Given the description of an element on the screen output the (x, y) to click on. 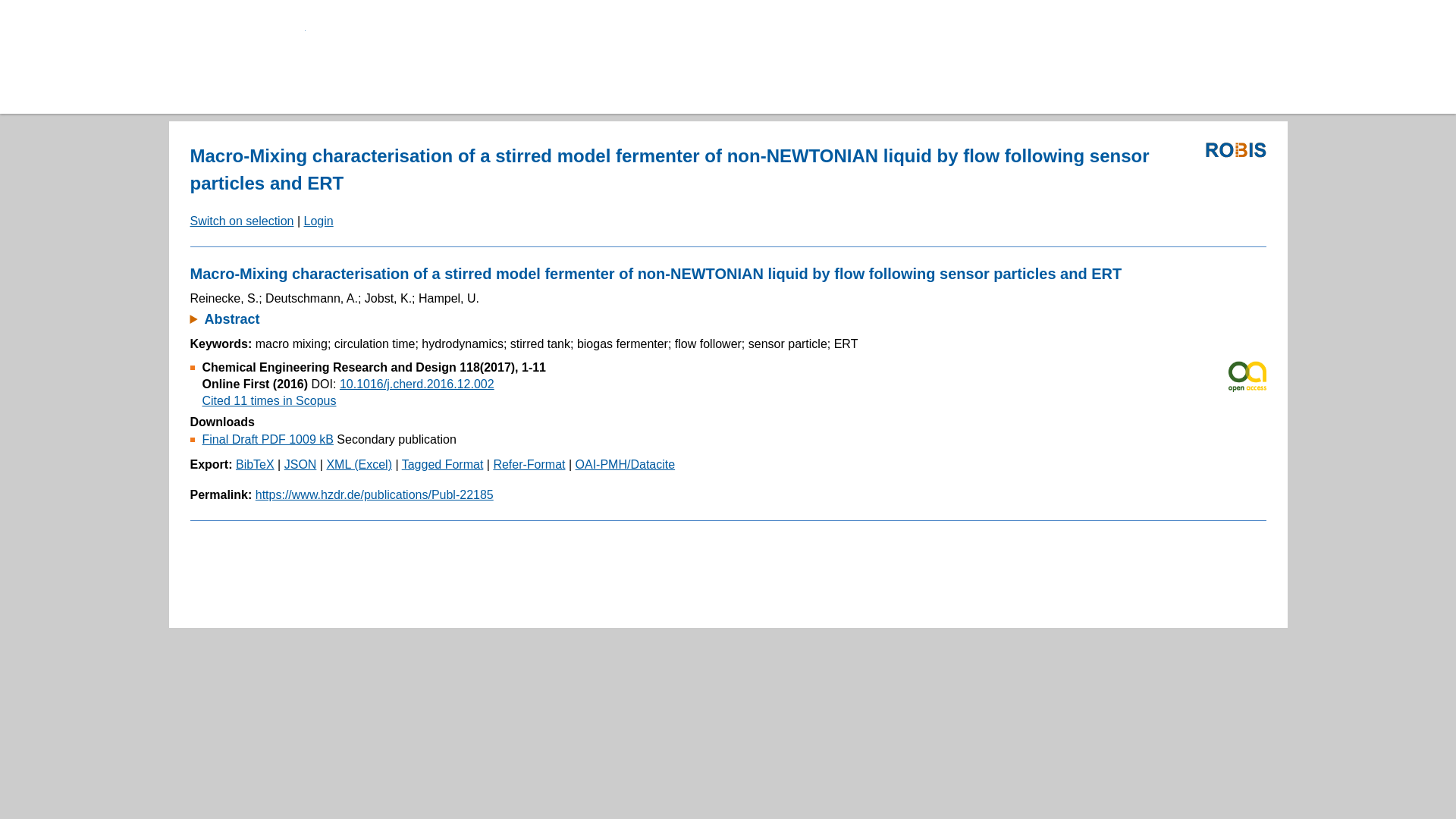
Helmholtz-Zentrum Dresden Rossendorf (243, 58)
Tagged Format (442, 463)
30.08.2024 21:26:09 (269, 400)
Switch on selection (241, 220)
BibTeX (255, 463)
Final Draft PDF 1009 kB (267, 439)
Open Access (1247, 375)
Cited 11 times in Scopus (269, 400)
Refer-Format (528, 463)
